Given the description of an element on the screen output the (x, y) to click on. 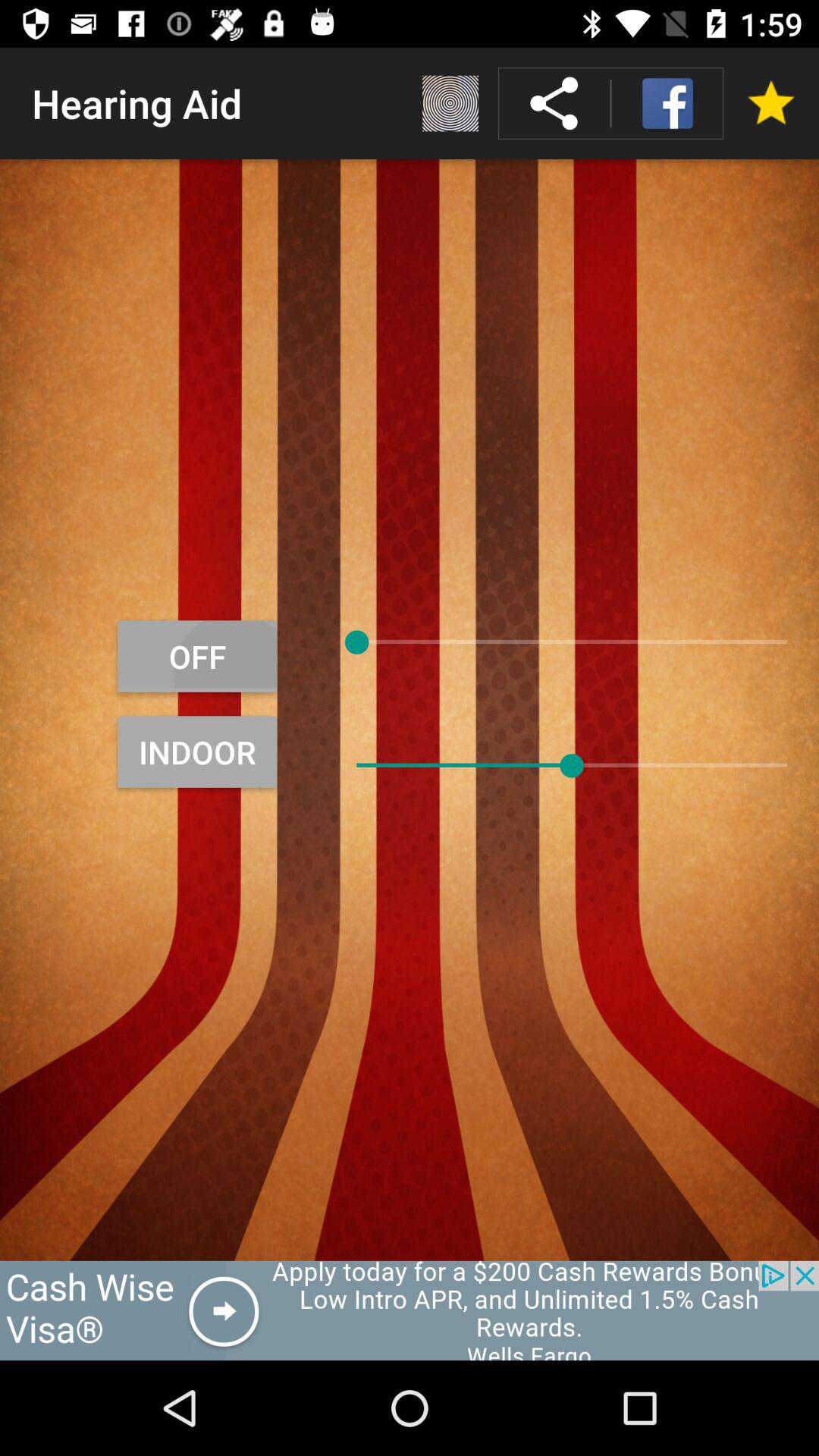
go to the advertisement page (409, 1310)
